Given the description of an element on the screen output the (x, y) to click on. 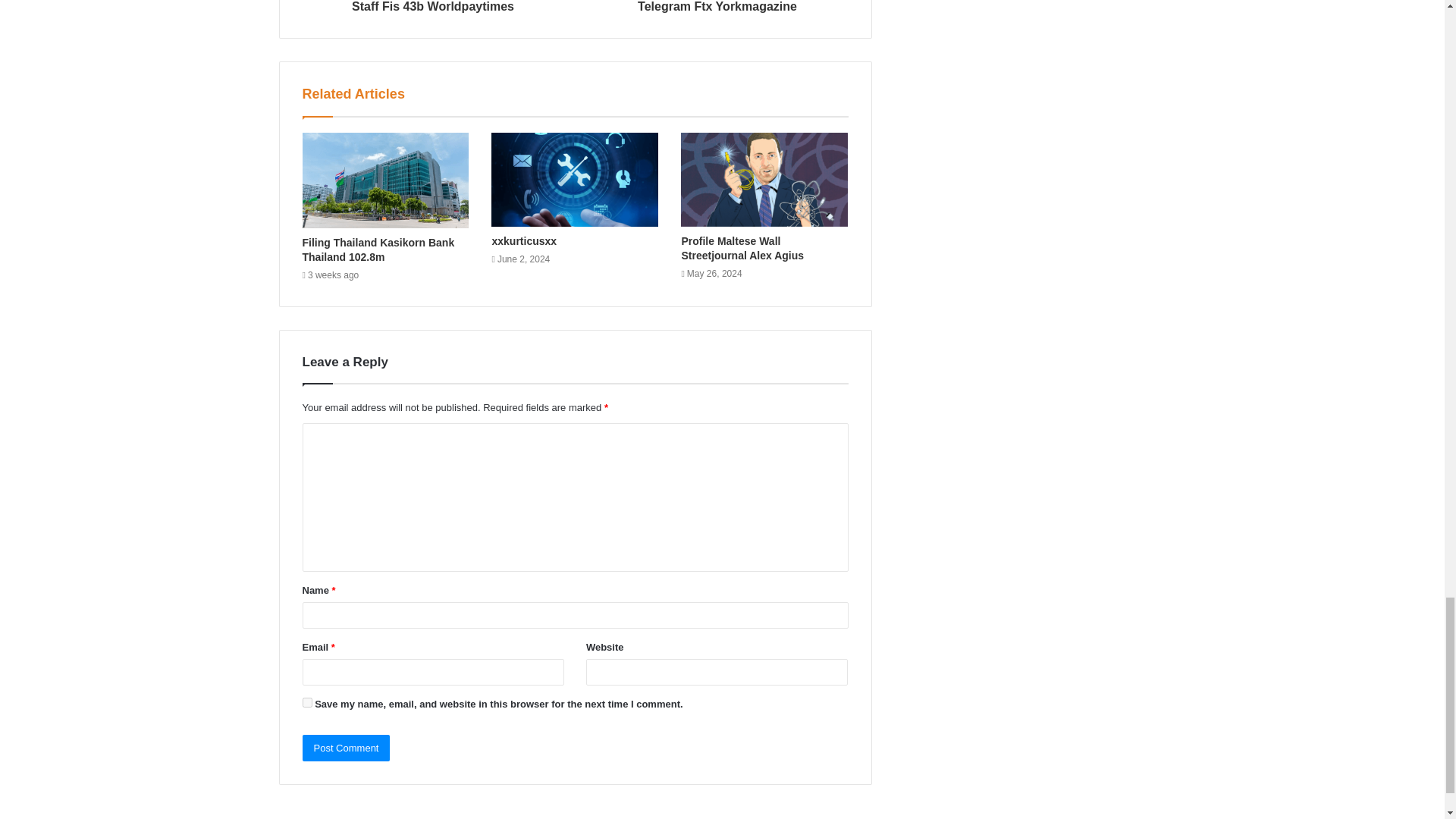
yes (306, 702)
Post Comment (345, 747)
